Given the description of an element on the screen output the (x, y) to click on. 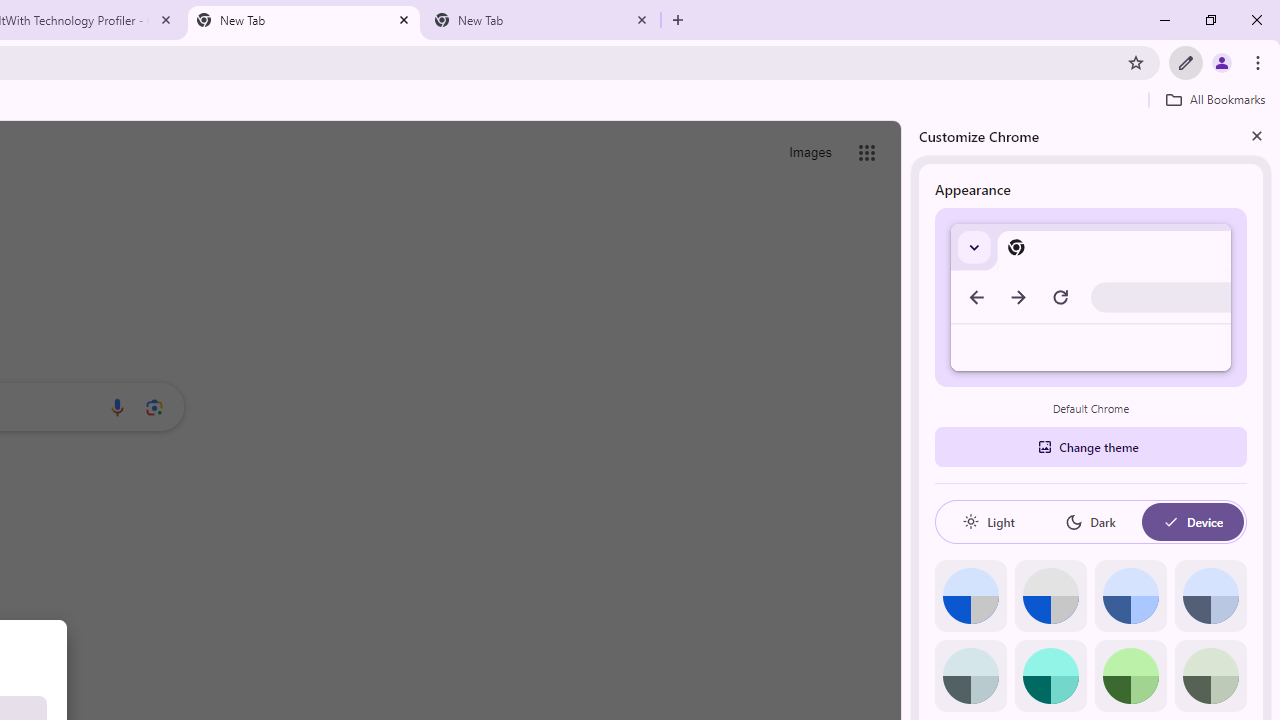
Light (988, 521)
Grey default color (1050, 596)
Change theme (1090, 446)
Device (1192, 521)
Blue (1130, 596)
Customize Chrome (1185, 62)
